Given the description of an element on the screen output the (x, y) to click on. 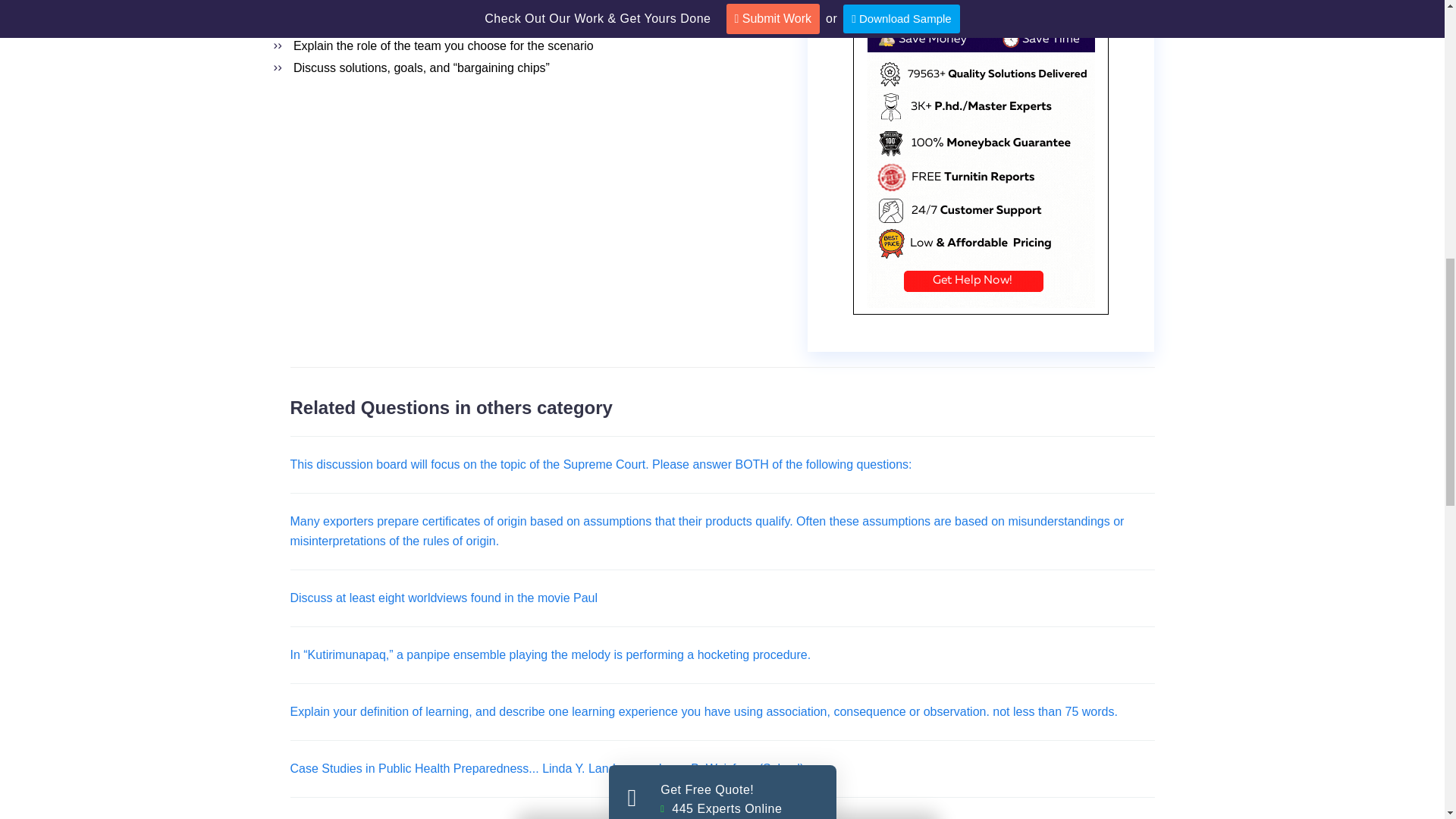
Submit Assignment (722, 635)
Discuss at least eight worldviews found in the movie Paul (442, 597)
